Given the description of an element on the screen output the (x, y) to click on. 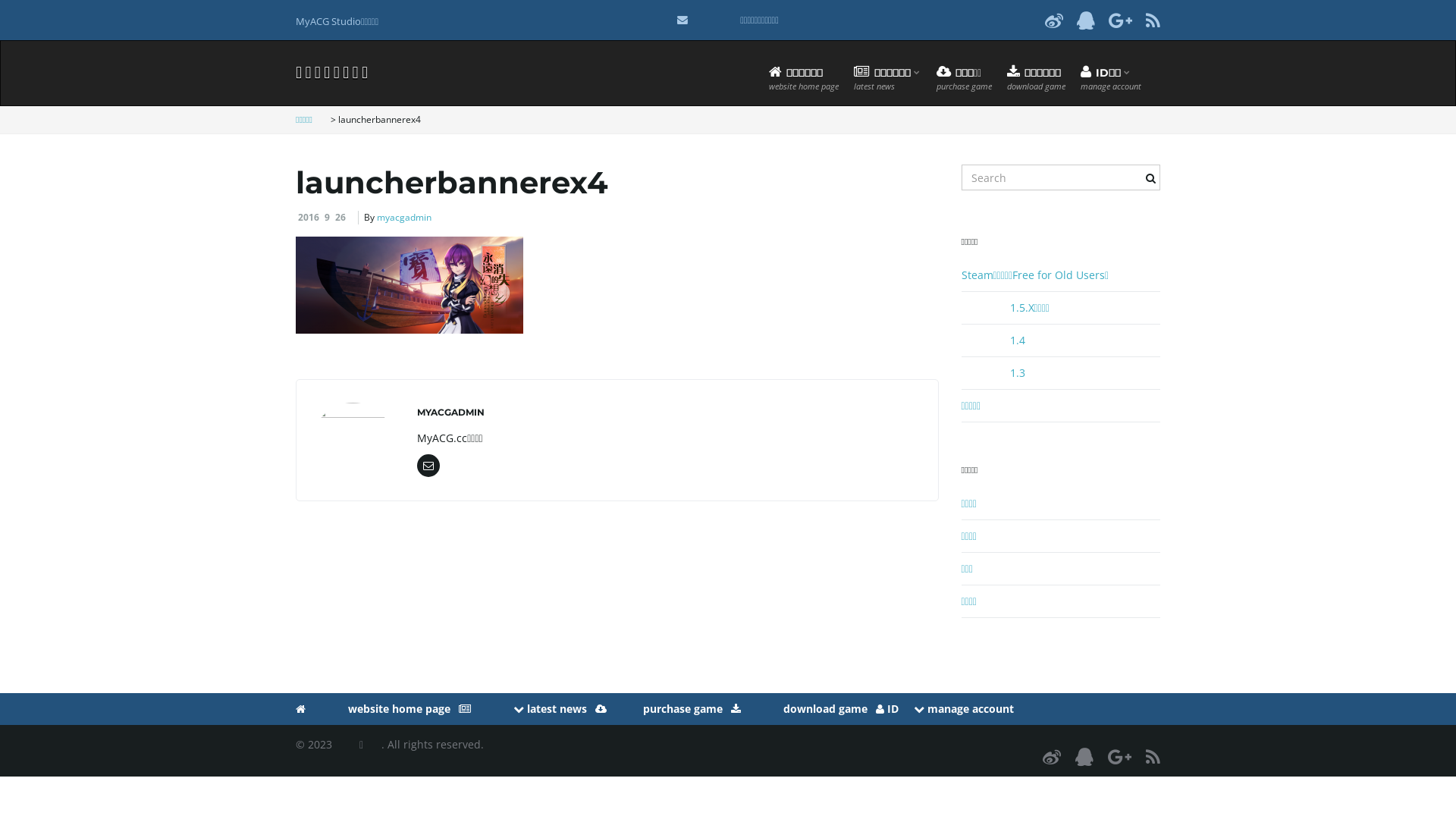
Subscribe MyACG Studio RSS Element type: hover (1152, 19)
myacgadmin Element type: text (403, 216)
Google Plus Element type: hover (1120, 19)
Subscribe MyACG Studio RSS Element type: hover (1152, 755)
QQ Group Element type: hover (1085, 19)
QQ Group Element type: hover (1084, 755)
Google Plus Element type: hover (1119, 755)
